Given the description of an element on the screen output the (x, y) to click on. 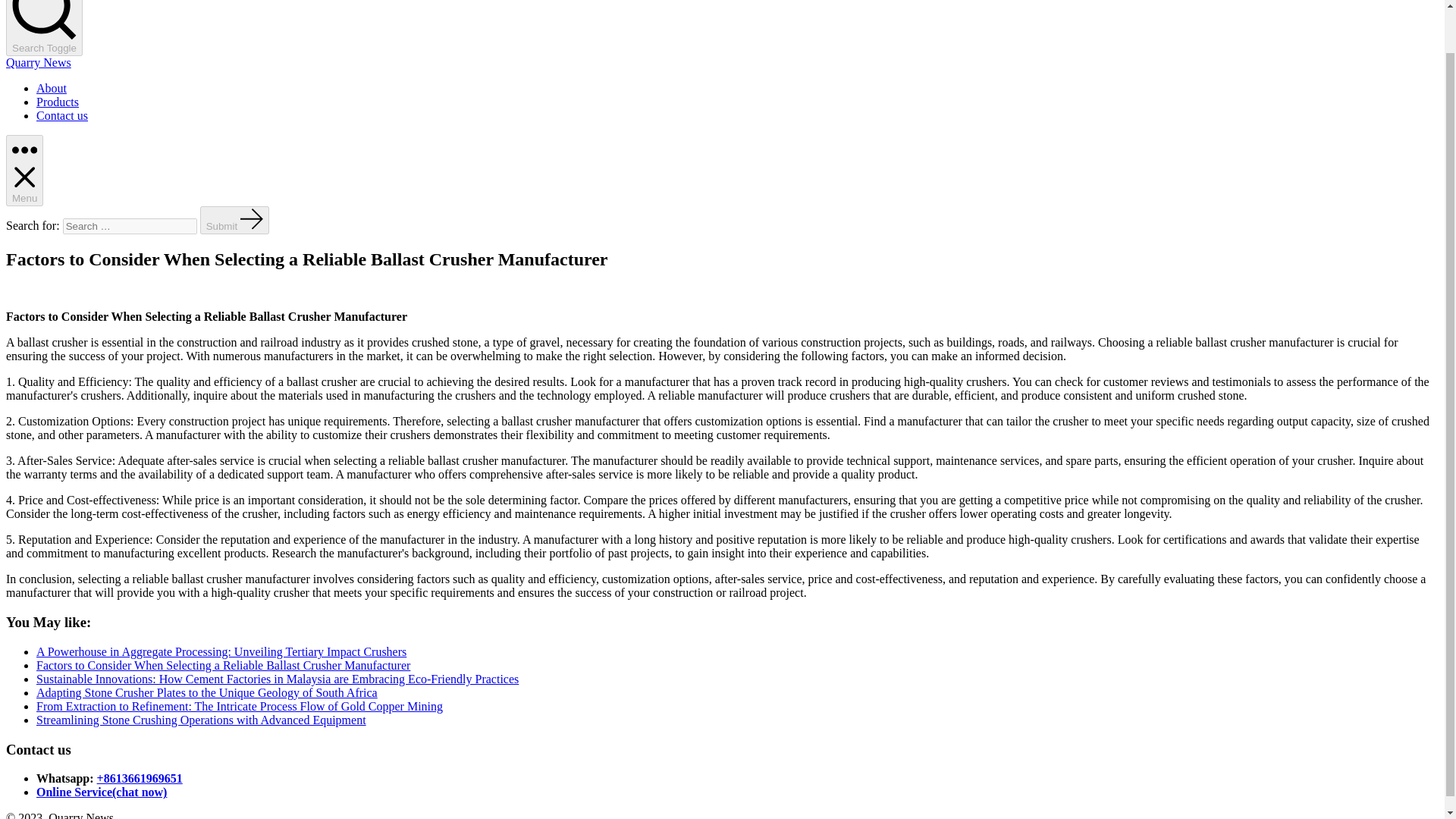
Quarry News (38, 62)
About (51, 88)
Contact us (61, 115)
Submit (234, 220)
Products (57, 101)
